Given the description of an element on the screen output the (x, y) to click on. 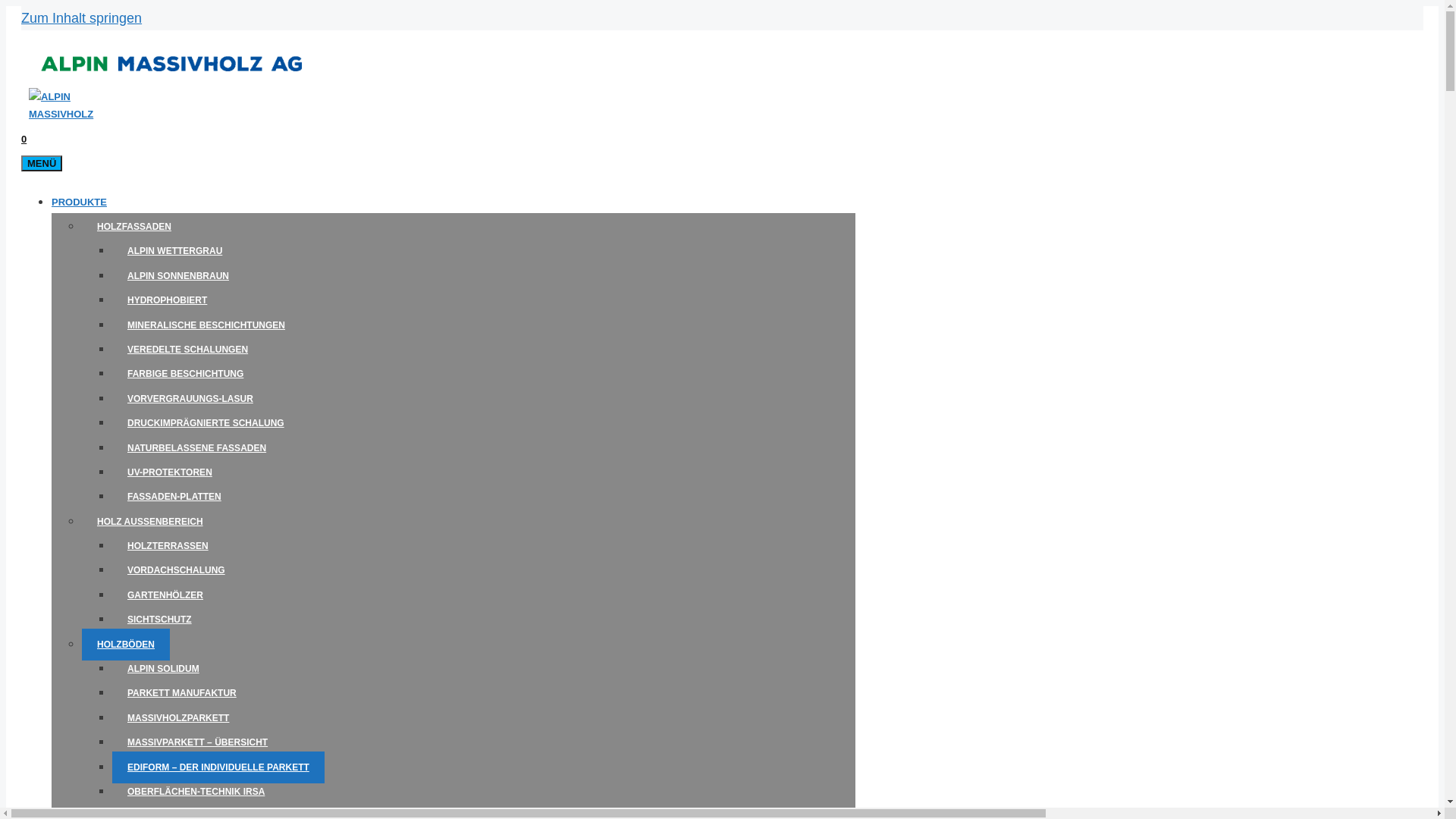
FASSADEN-PLATTEN Element type: text (174, 496)
MINERALISCHE BESCHICHTUNGEN Element type: text (206, 325)
Zum Inhalt springen Element type: text (81, 17)
VORDACHSCHALUNG Element type: text (176, 570)
HOLZTERRASSEN Element type: text (167, 545)
MASSIVHOLZPARKETT Element type: text (178, 718)
PARKETT MANUFAKTUR Element type: text (181, 693)
ALPIN SONNENBRAUN Element type: text (178, 275)
ALPIN WETTERGRAU Element type: text (174, 250)
VEREDELTE SCHALUNGEN Element type: text (187, 349)
Alpin Massivholz Element type: hover (74, 113)
0 Element type: text (23, 138)
NATURBELASSENE FASSADEN Element type: text (196, 448)
FARBIGE BESCHICHTUNG Element type: text (185, 373)
HOLZFASSADEN Element type: text (133, 226)
SICHTSCHUTZ Element type: text (159, 619)
HYDROPHOBIERT Element type: text (167, 300)
PRODUKTE Element type: text (78, 201)
UV-PROTEKTOREN Element type: text (169, 472)
ALPIN SOLIDUM Element type: text (163, 668)
HOLZ AUSSENBEREICH Element type: text (149, 521)
VORVERGRAUUNGS-LASUR Element type: text (190, 398)
